Given the description of an element on the screen output the (x, y) to click on. 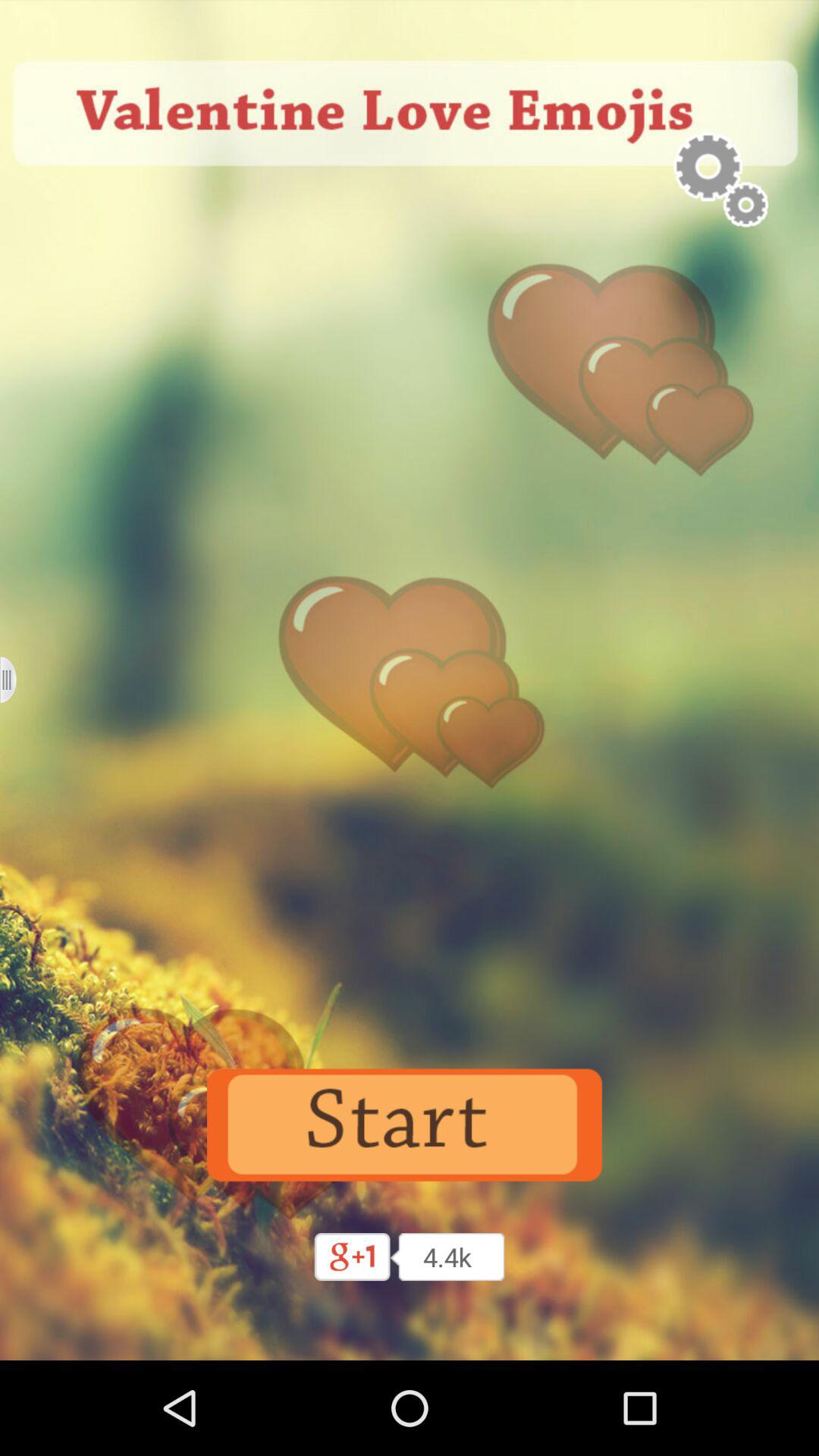
toggle pane (18, 679)
